Given the description of an element on the screen output the (x, y) to click on. 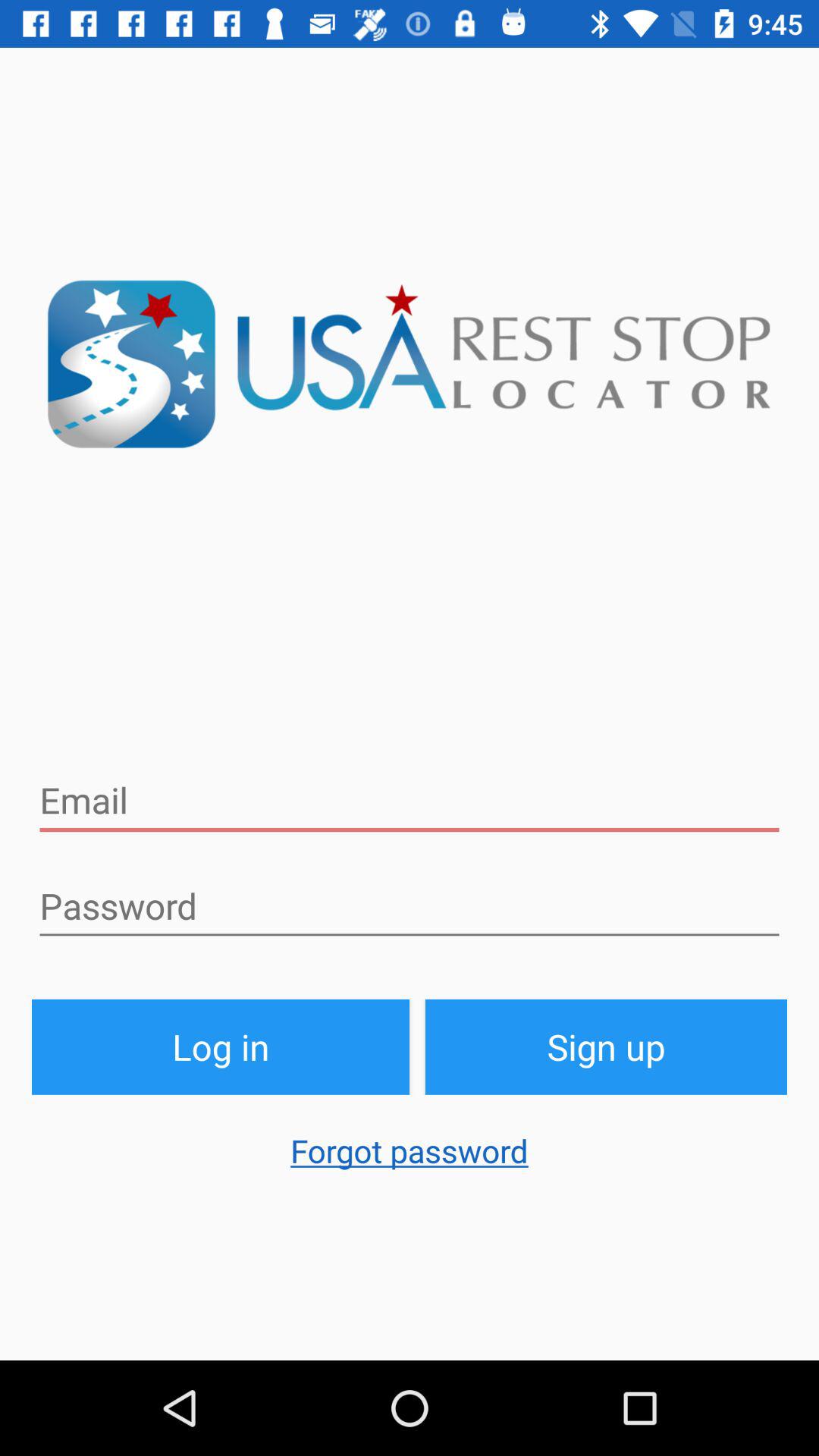
jump to the sign up button (606, 1046)
